Given the description of an element on the screen output the (x, y) to click on. 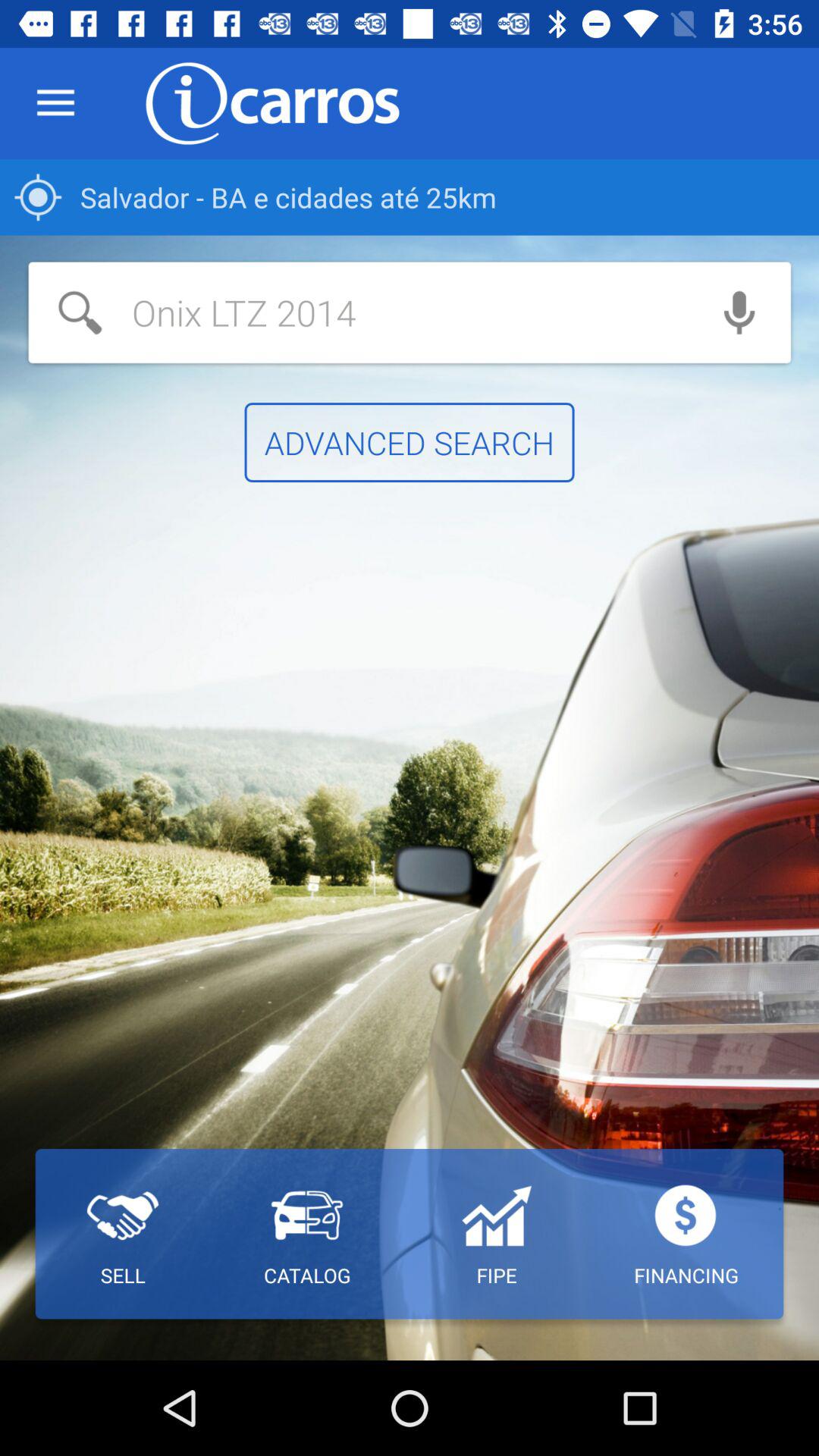
select the catalog icon (306, 1233)
